Given the description of an element on the screen output the (x, y) to click on. 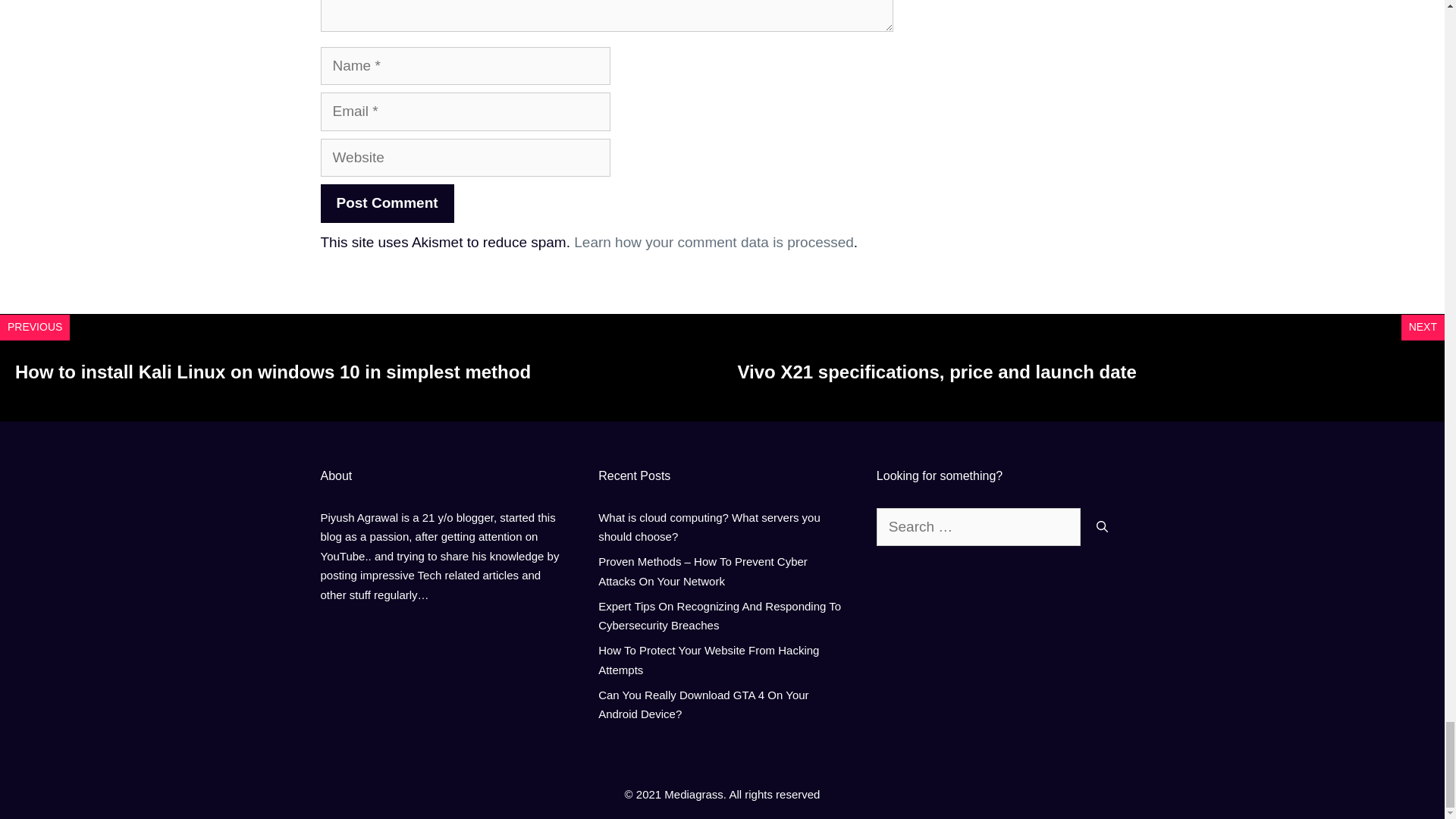
Post Comment (386, 203)
Post Comment (386, 203)
Search for: (978, 527)
